Given the description of an element on the screen output the (x, y) to click on. 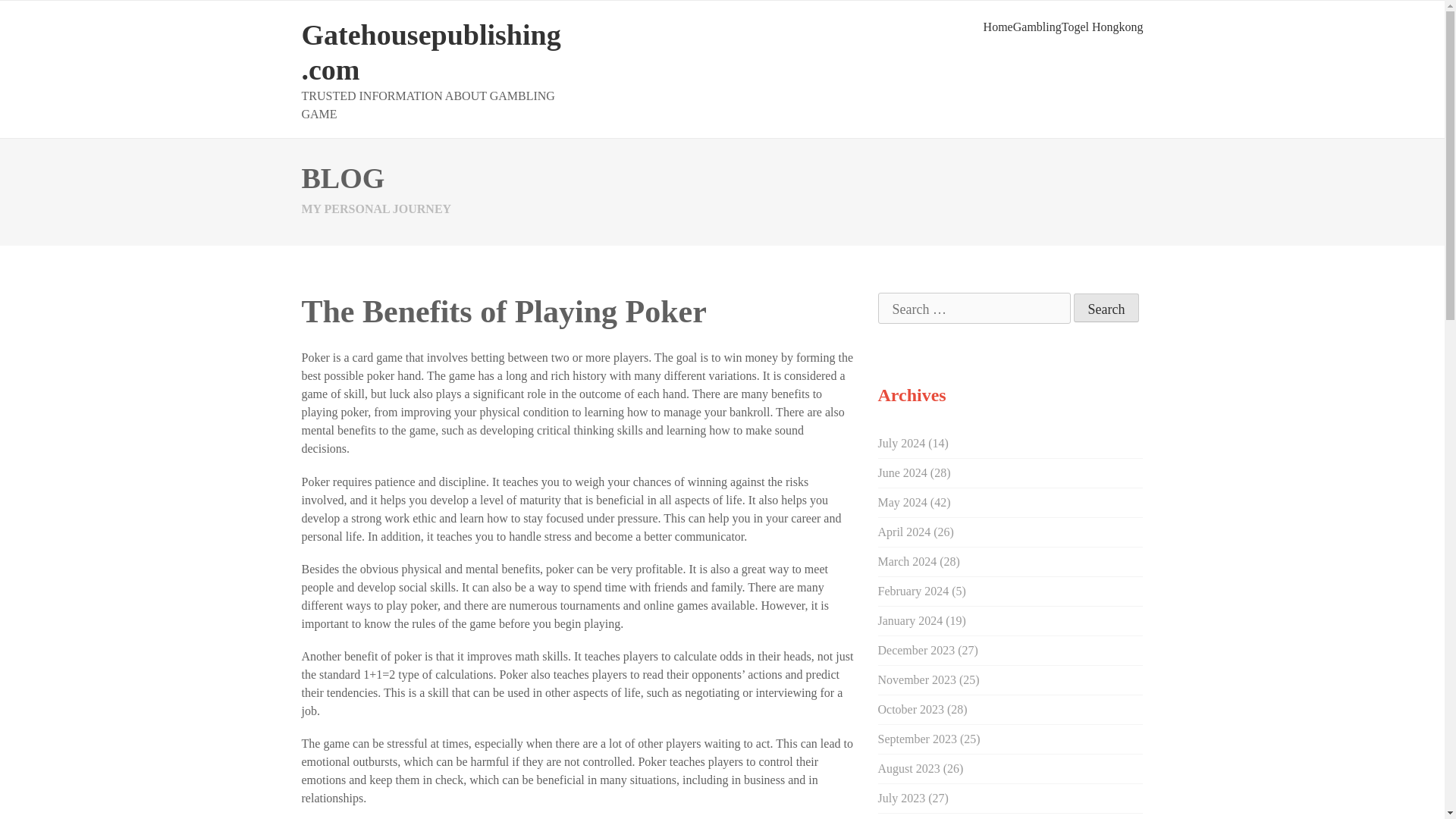
Gambling (1037, 27)
May 2024 (902, 502)
December 2023 (916, 649)
August 2023 (908, 768)
Gatehousepublishing.com (430, 51)
Search (1107, 307)
Search (1107, 307)
March 2024 (907, 561)
January 2024 (910, 620)
Search (1107, 307)
October 2023 (910, 708)
Home (998, 27)
July 2024 (901, 442)
July 2023 (901, 797)
